Given the description of an element on the screen output the (x, y) to click on. 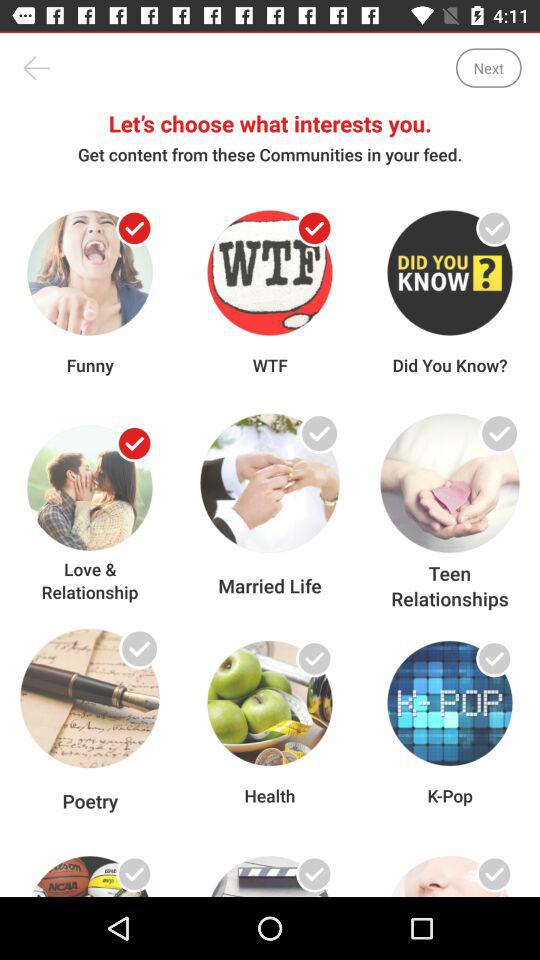
tick your interests (134, 873)
